Given the description of an element on the screen output the (x, y) to click on. 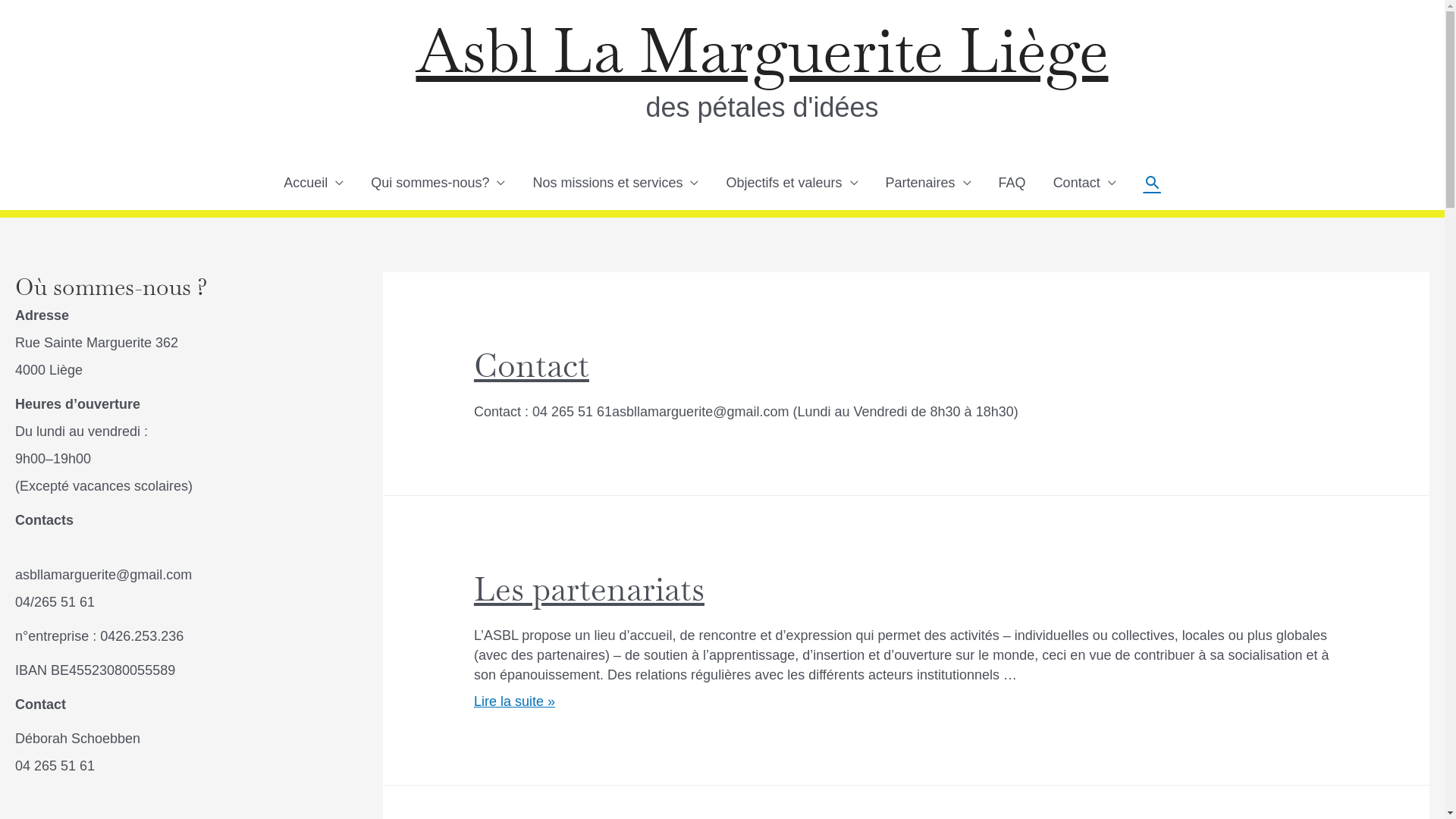
FAQ Element type: text (1012, 182)
Objectifs et valeurs Element type: text (791, 182)
Contact Element type: text (1084, 182)
Contact Element type: text (531, 365)
Nos missions et services Element type: text (615, 182)
Qui sommes-nous? Element type: text (437, 182)
Les partenariats Element type: text (588, 588)
Partenaires Element type: text (928, 182)
Rechercher Element type: text (1152, 182)
Accueil Element type: text (313, 182)
